Given the description of an element on the screen output the (x, y) to click on. 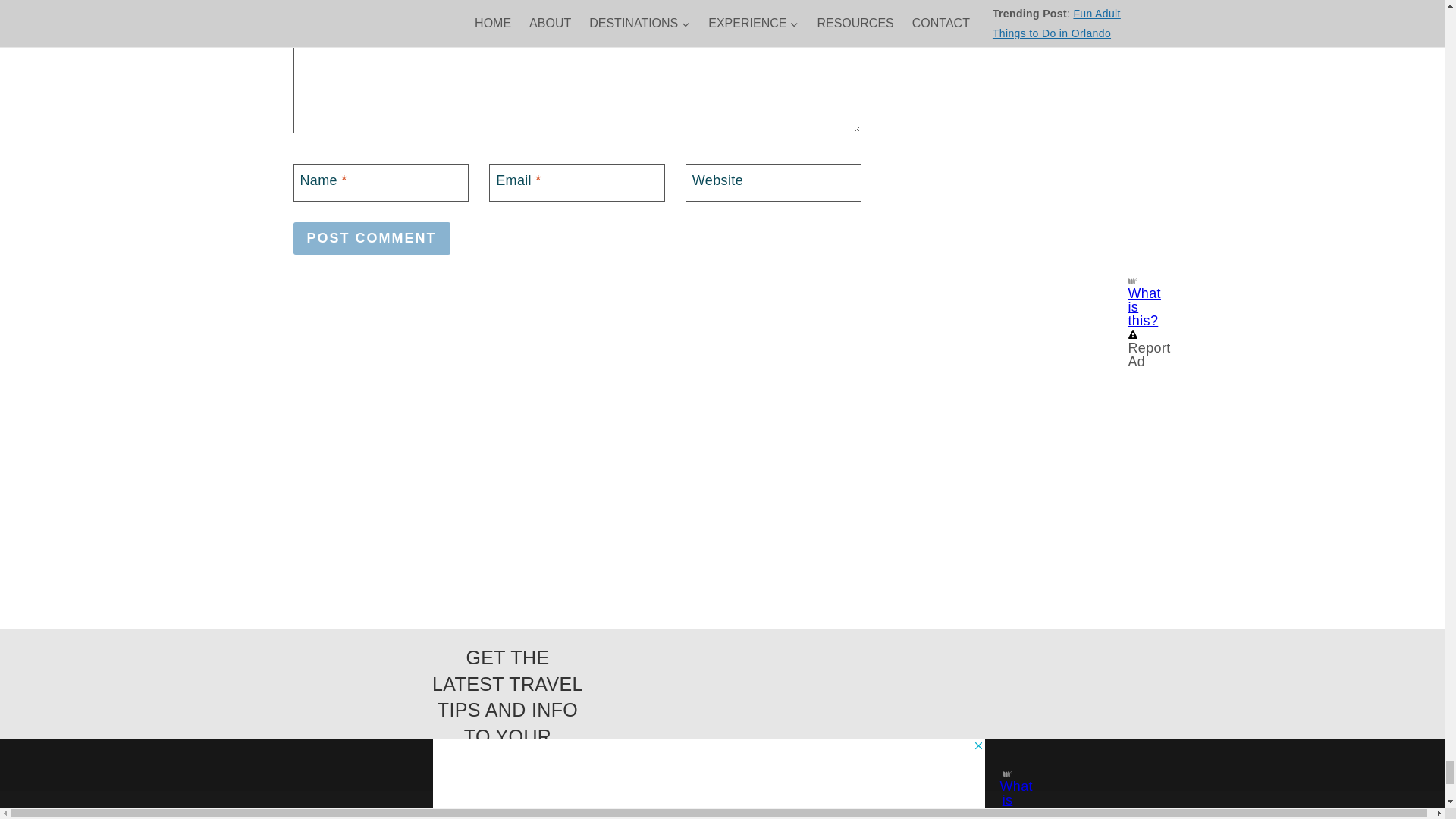
Post Comment (370, 237)
